Given the description of an element on the screen output the (x, y) to click on. 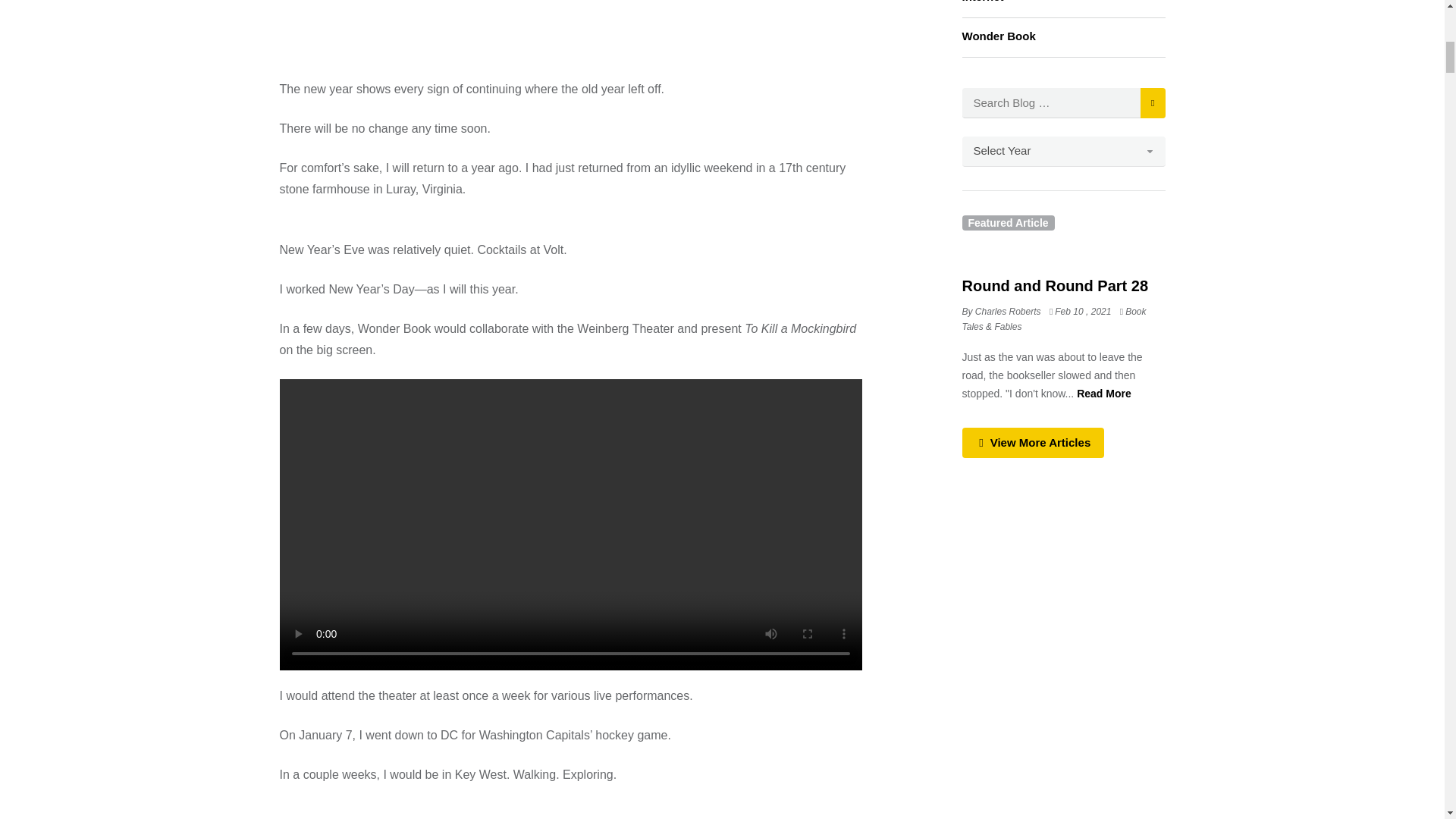
Round and Round Part 28 (1104, 393)
View More Articles (1031, 442)
Round and Round Part 28 (1062, 250)
View all posts by Charles Roberts (1000, 311)
Round and Round Part 28 (1054, 285)
Round and Round Part 28 (1083, 311)
